Given the description of an element on the screen output the (x, y) to click on. 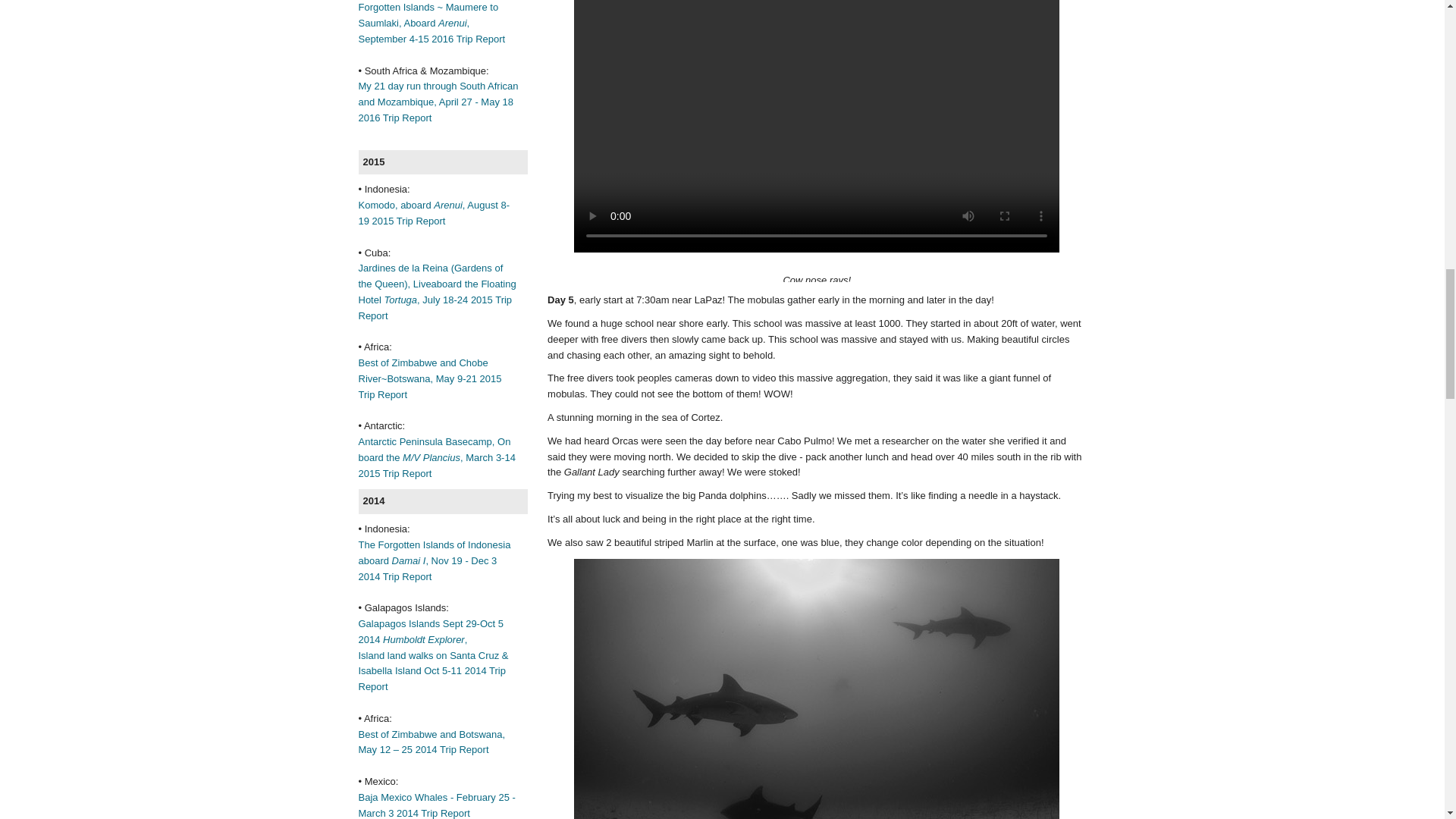
Komodo, aboard Arenui, August 8-19 2015 Trip Report (433, 212)
Baja Mexico Whales - February 25 - March 3 2014 Trip Report (436, 805)
